Given the description of an element on the screen output the (x, y) to click on. 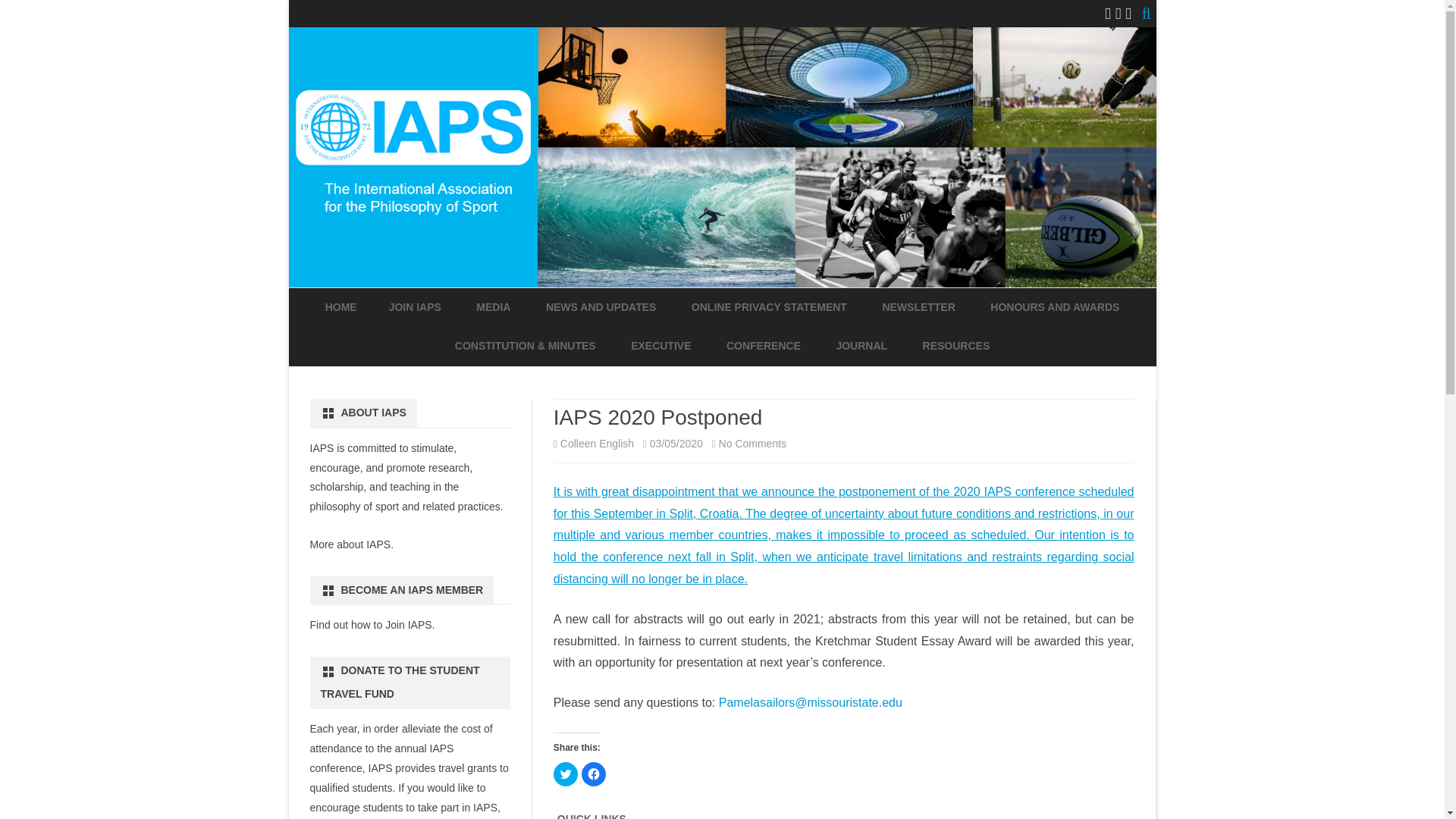
Click to share on Twitter (565, 774)
Click to share on Facebook (592, 774)
